Given the description of an element on the screen output the (x, y) to click on. 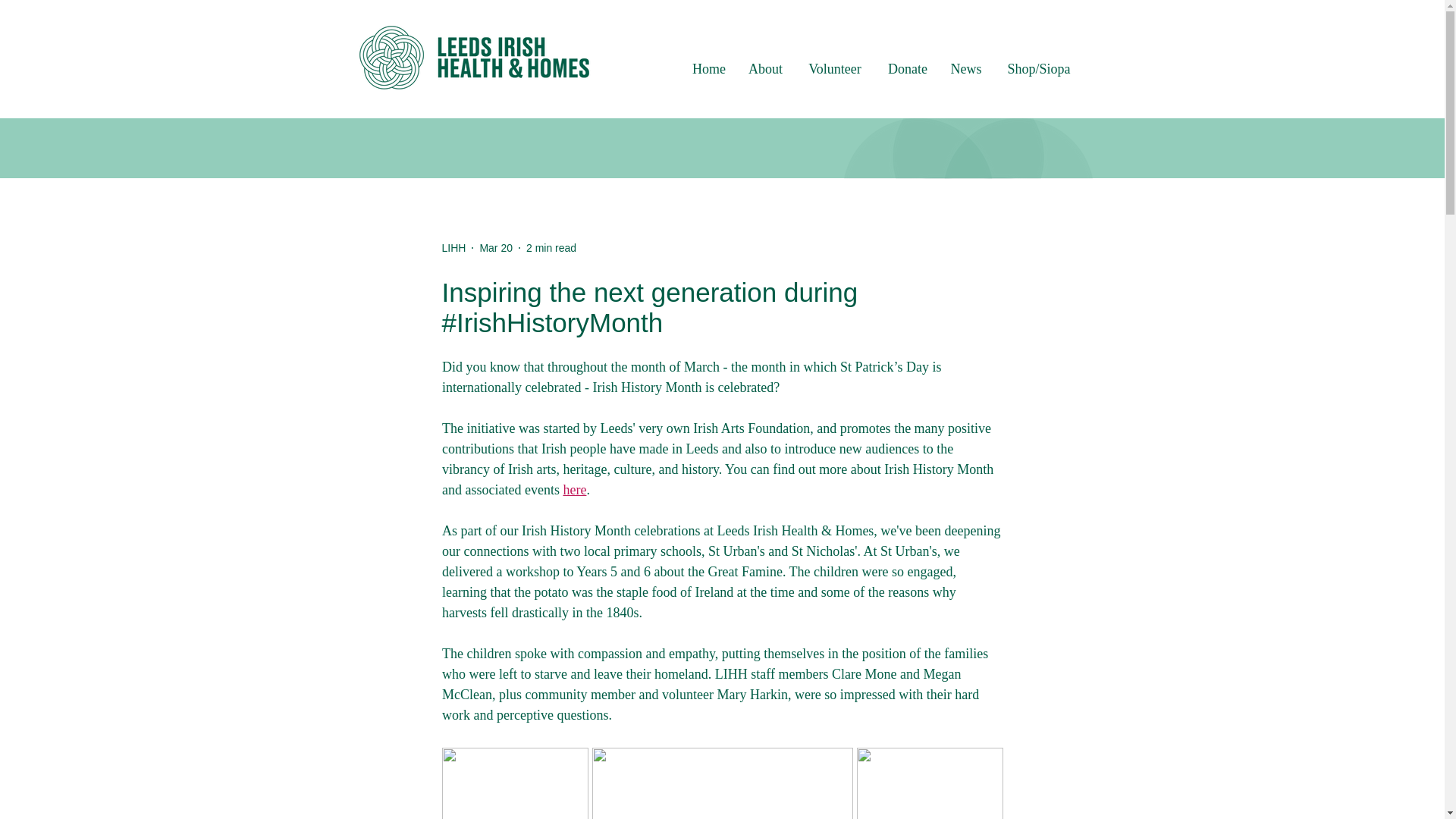
Home (708, 68)
Volunteer (835, 68)
About (765, 68)
News (966, 68)
LIHH (453, 247)
2 min read (550, 246)
LIHH (453, 247)
here (574, 489)
Donate (907, 68)
Mar 20 (495, 246)
